Given the description of an element on the screen output the (x, y) to click on. 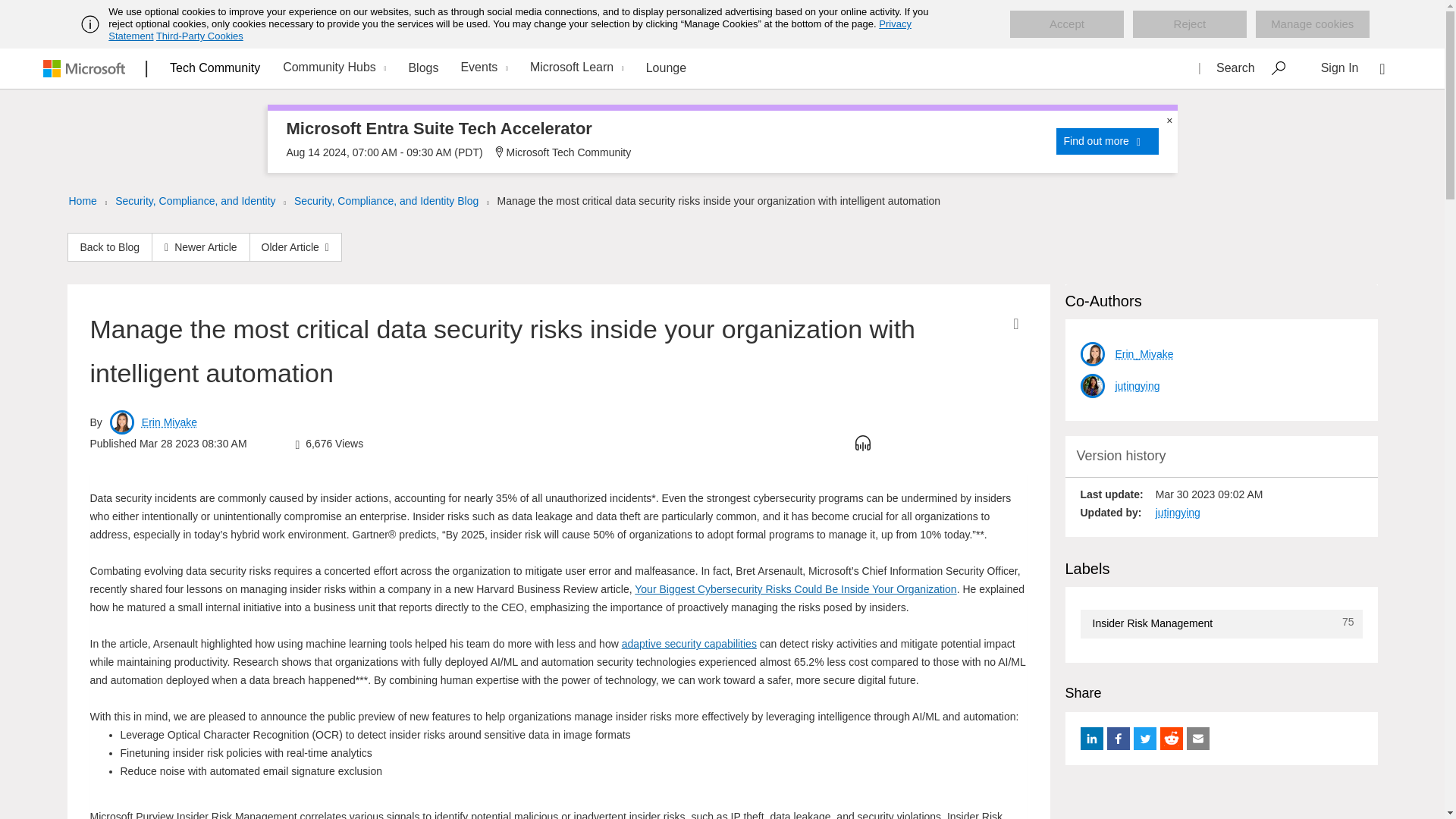
Tech Community (215, 67)
Third-Party Cookies (199, 35)
Manage cookies (1312, 23)
Privacy Statement (509, 29)
Reject (1189, 23)
Community Hubs (332, 67)
Accept (1067, 23)
